Given the description of an element on the screen output the (x, y) to click on. 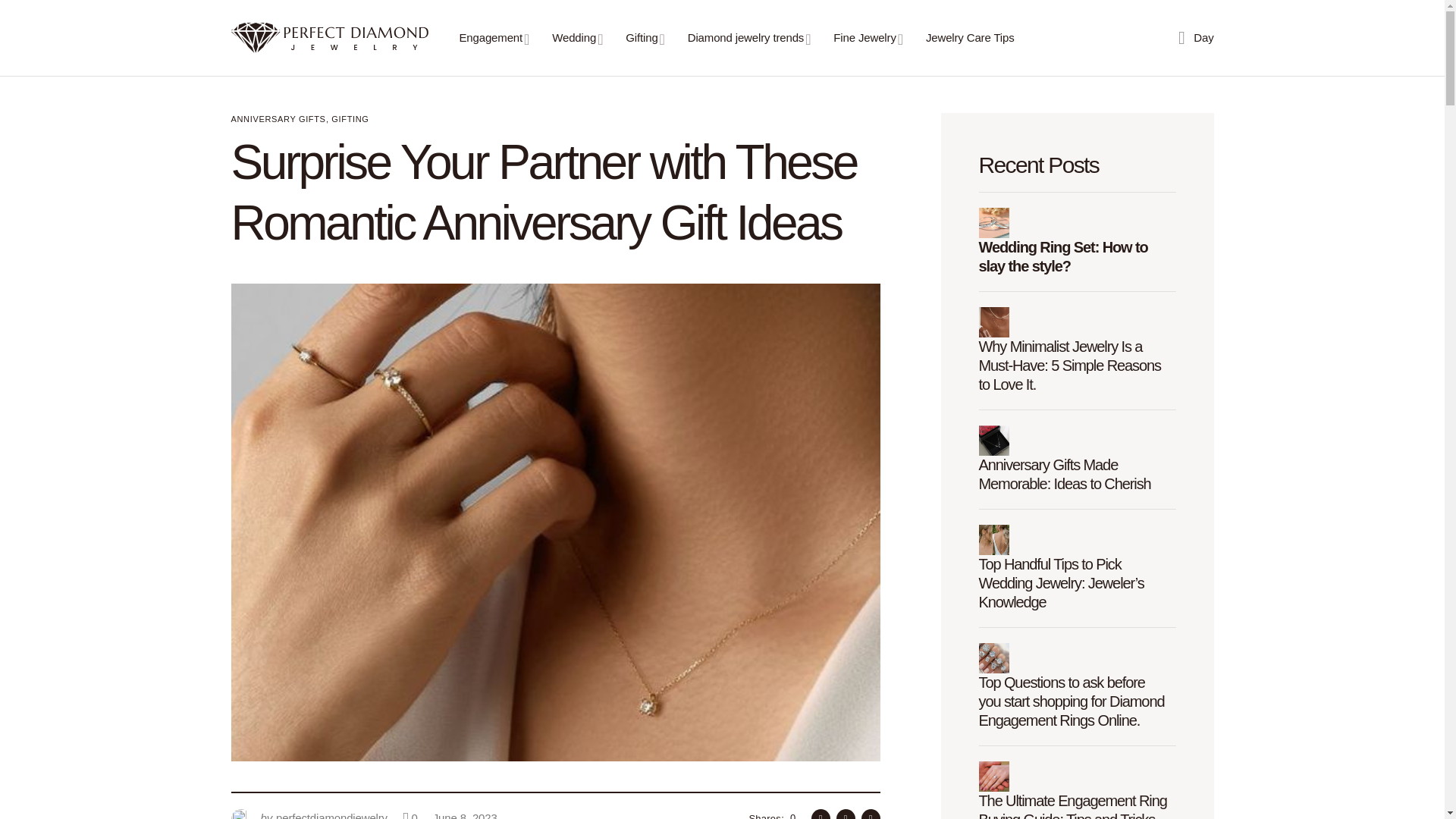
View all posts by perfectdiamondjewelry (308, 812)
Engagement (494, 38)
